Given the description of an element on the screen output the (x, y) to click on. 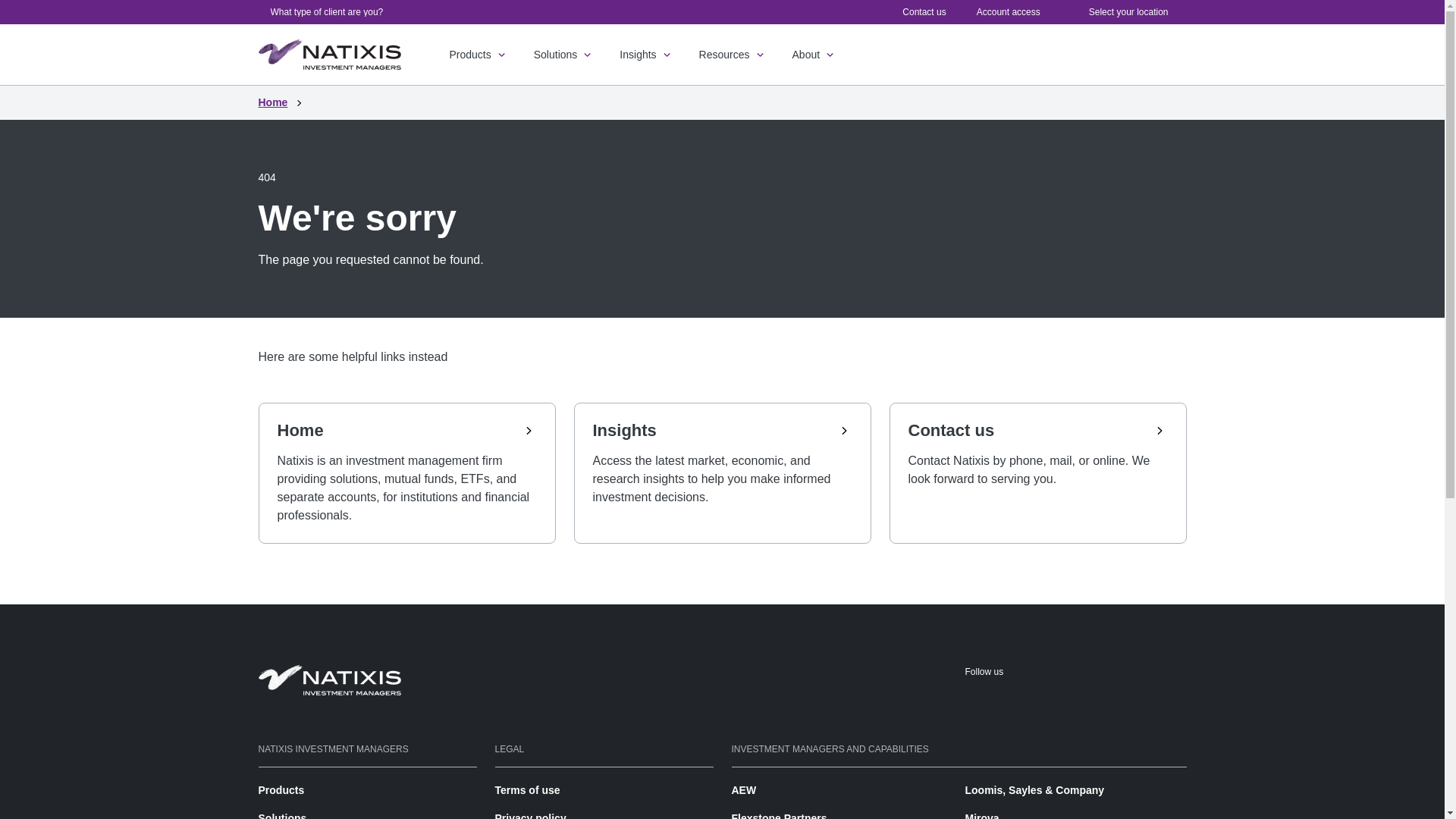
Products (478, 54)
Insights (647, 54)
Resources (733, 54)
Select your location (1128, 12)
Contact us (923, 11)
About (815, 54)
What type of client are you? (329, 12)
Solutions (564, 54)
Account access (1008, 11)
